Given the description of an element on the screen output the (x, y) to click on. 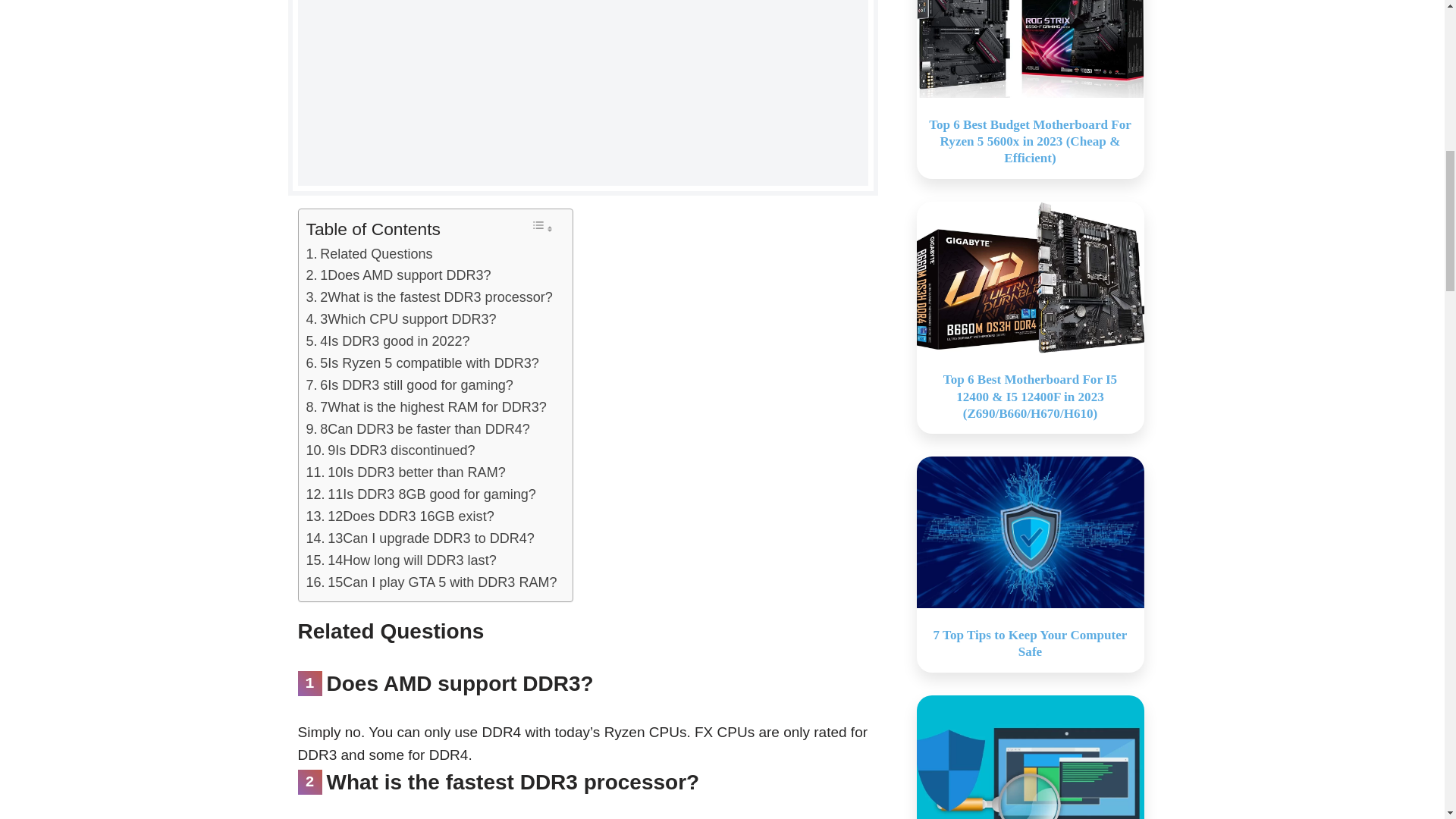
2What is the fastest DDR3 processor? (429, 297)
12Does DDR3 16GB exist? (400, 516)
5Is Ryzen 5 compatible with DDR3? (421, 363)
3Which CPU support DDR3? (400, 319)
10Is DDR3 better than RAM? (405, 472)
4Is DDR3 good in 2022? (387, 341)
8Can DDR3 be faster than DDR4? (417, 429)
5Is Ryzen 5 compatible with DDR3? (421, 363)
6Is DDR3 still good for gaming? (409, 385)
10Is DDR3 better than RAM? (405, 472)
